Given the description of an element on the screen output the (x, y) to click on. 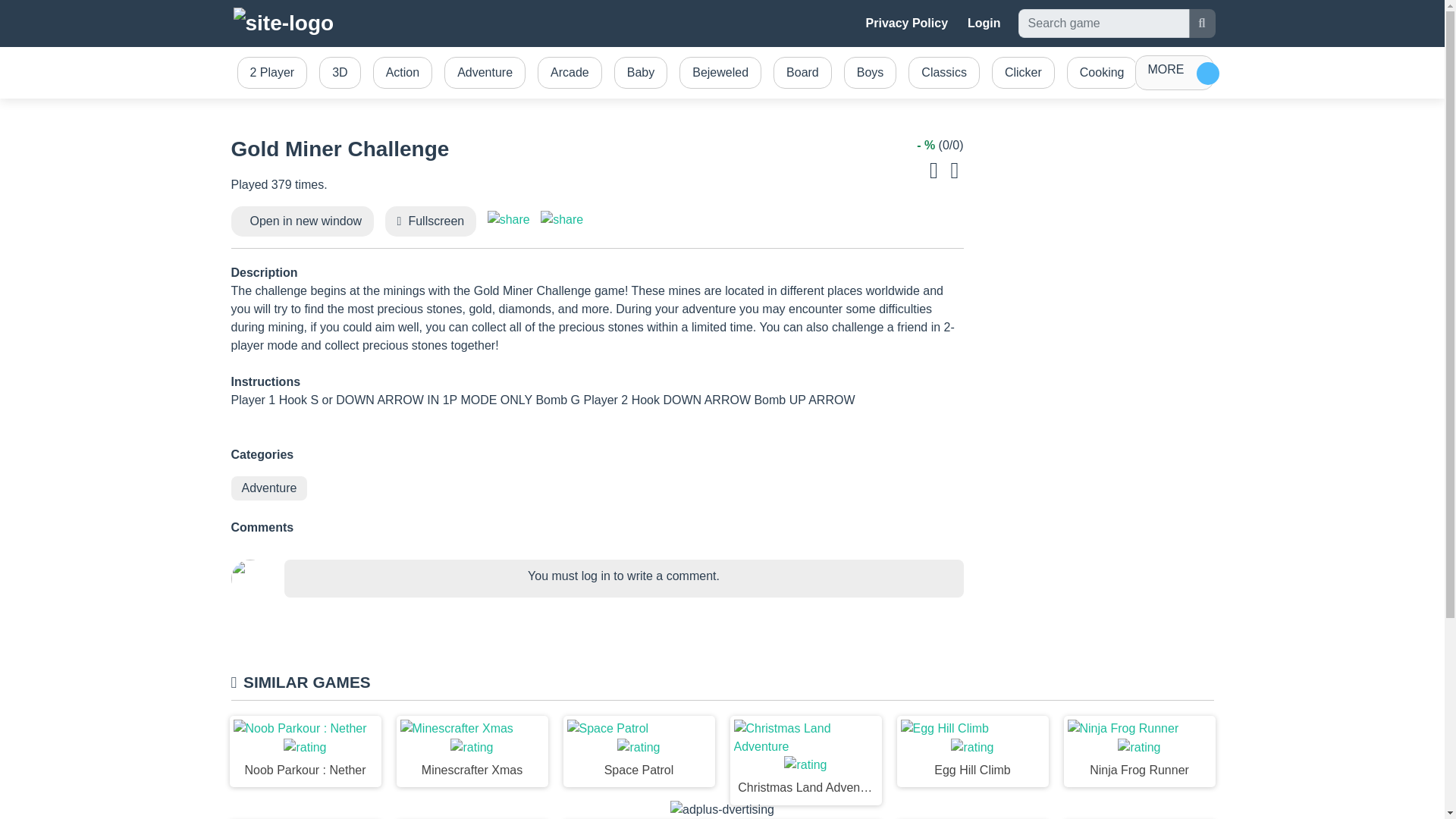
Adventure (484, 72)
Clicker (1023, 72)
Board (802, 72)
Login (983, 23)
Privacy Policy (907, 23)
Bejeweled (719, 72)
Ad.Plus Advertising (721, 809)
2 Player (271, 72)
Classics (943, 72)
Baby (640, 72)
Arcade (569, 72)
Cooking (1101, 72)
Boys (870, 72)
3D (339, 72)
Action (402, 72)
